Given the description of an element on the screen output the (x, y) to click on. 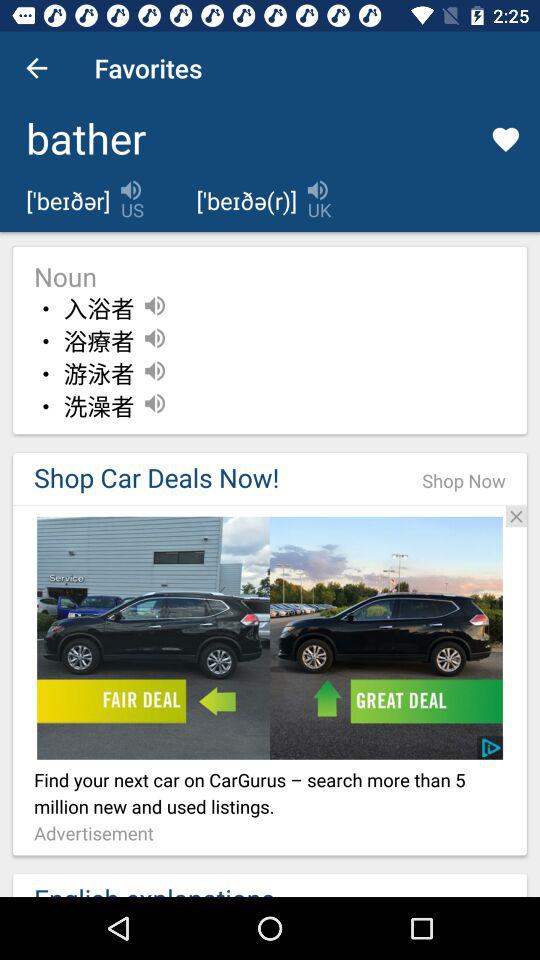
go to add (269, 637)
